Given the description of an element on the screen output the (x, y) to click on. 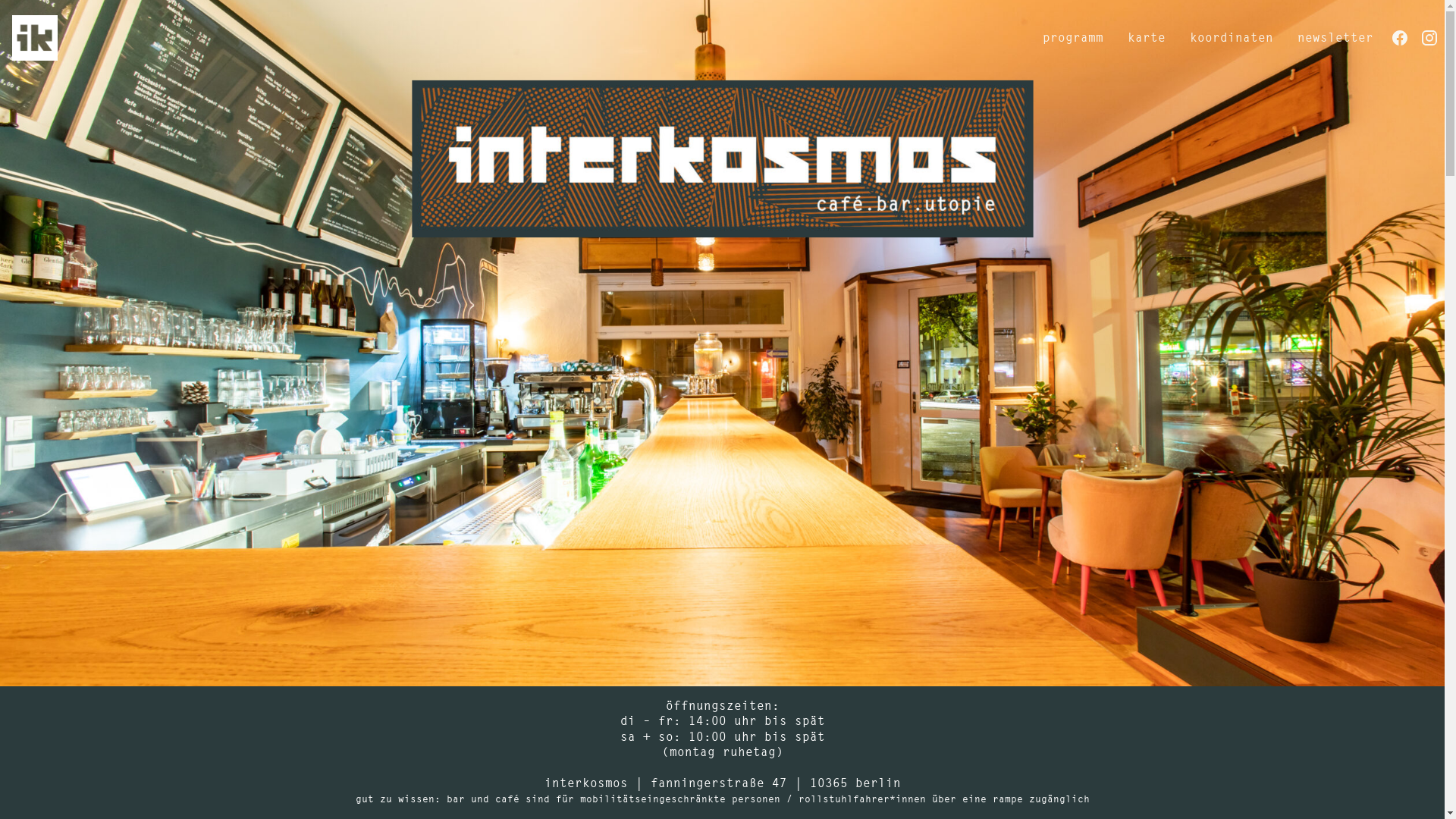
newsletter Element type: text (1335, 37)
programm Element type: text (1072, 37)
koordinaten Element type: text (1231, 37)
logo Element type: text (34, 37)
karte Element type: text (1146, 37)
